Given the description of an element on the screen output the (x, y) to click on. 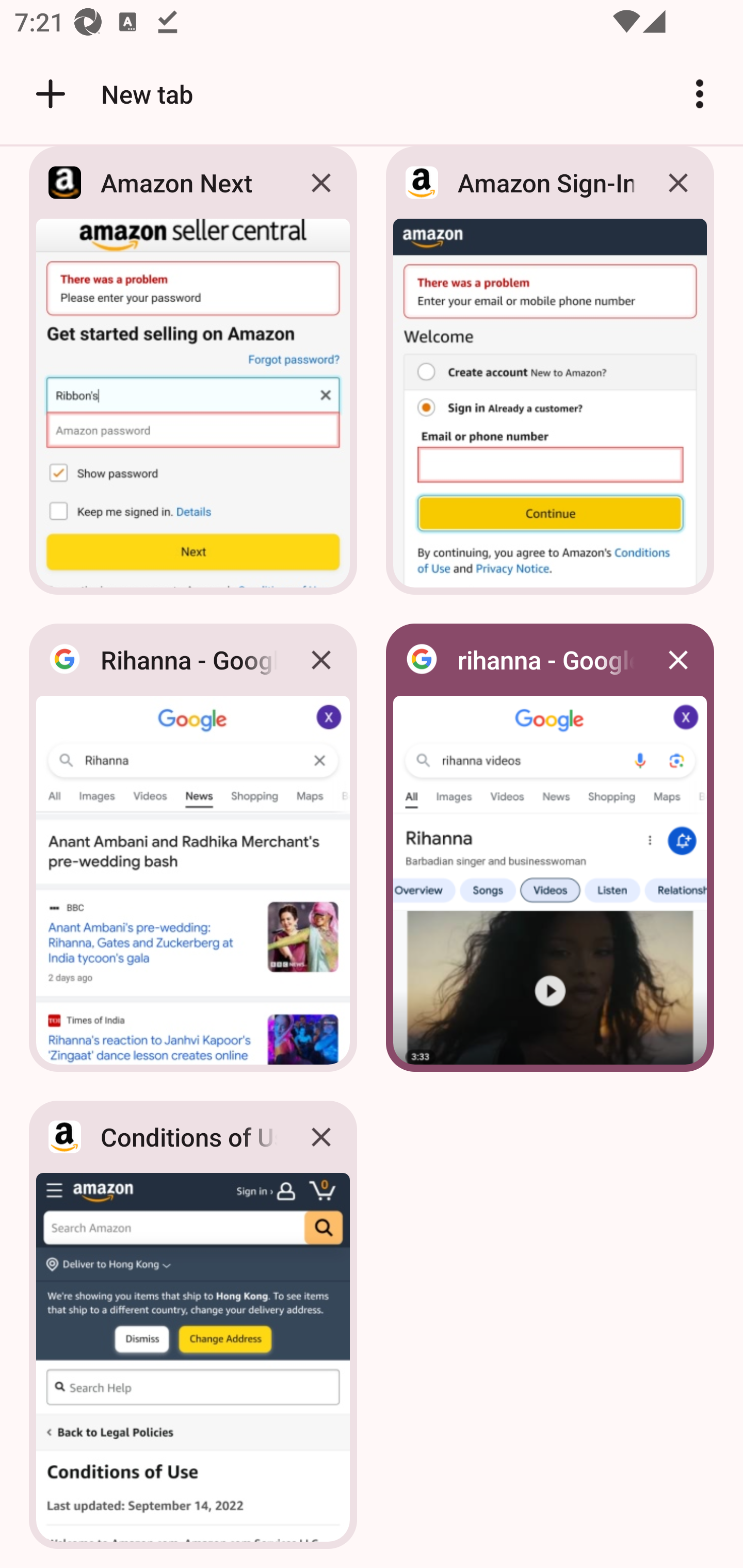
New tab (111, 93)
Customize and control Google Chrome (699, 93)
Amazon Next Amazon Next, tab Close Amazon Next tab (192, 376)
Close Amazon Next tab (320, 184)
Close Amazon Sign-In tab (677, 184)
Close Rihanna - Google Search tab (320, 659)
Close rihanna - Google Search tab (677, 659)
